Given the description of an element on the screen output the (x, y) to click on. 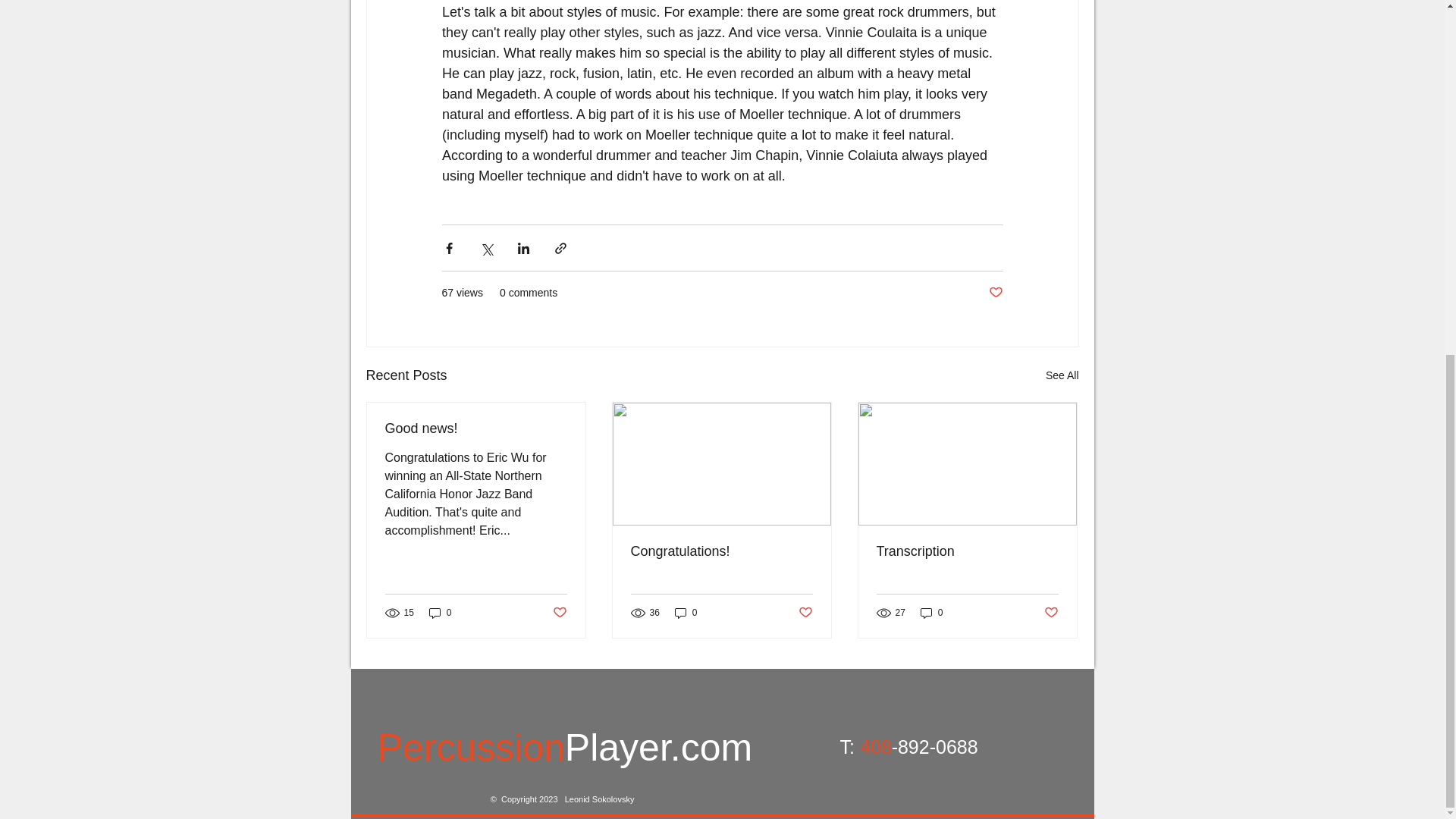
0 (440, 612)
Post not marked as liked (804, 611)
Transcription (967, 551)
Post not marked as liked (558, 611)
Post not marked as liked (1050, 611)
0 (685, 612)
Congratulations! (721, 551)
Good news! (476, 428)
Twitter Tweet (1004, 791)
0 (931, 612)
